Given the description of an element on the screen output the (x, y) to click on. 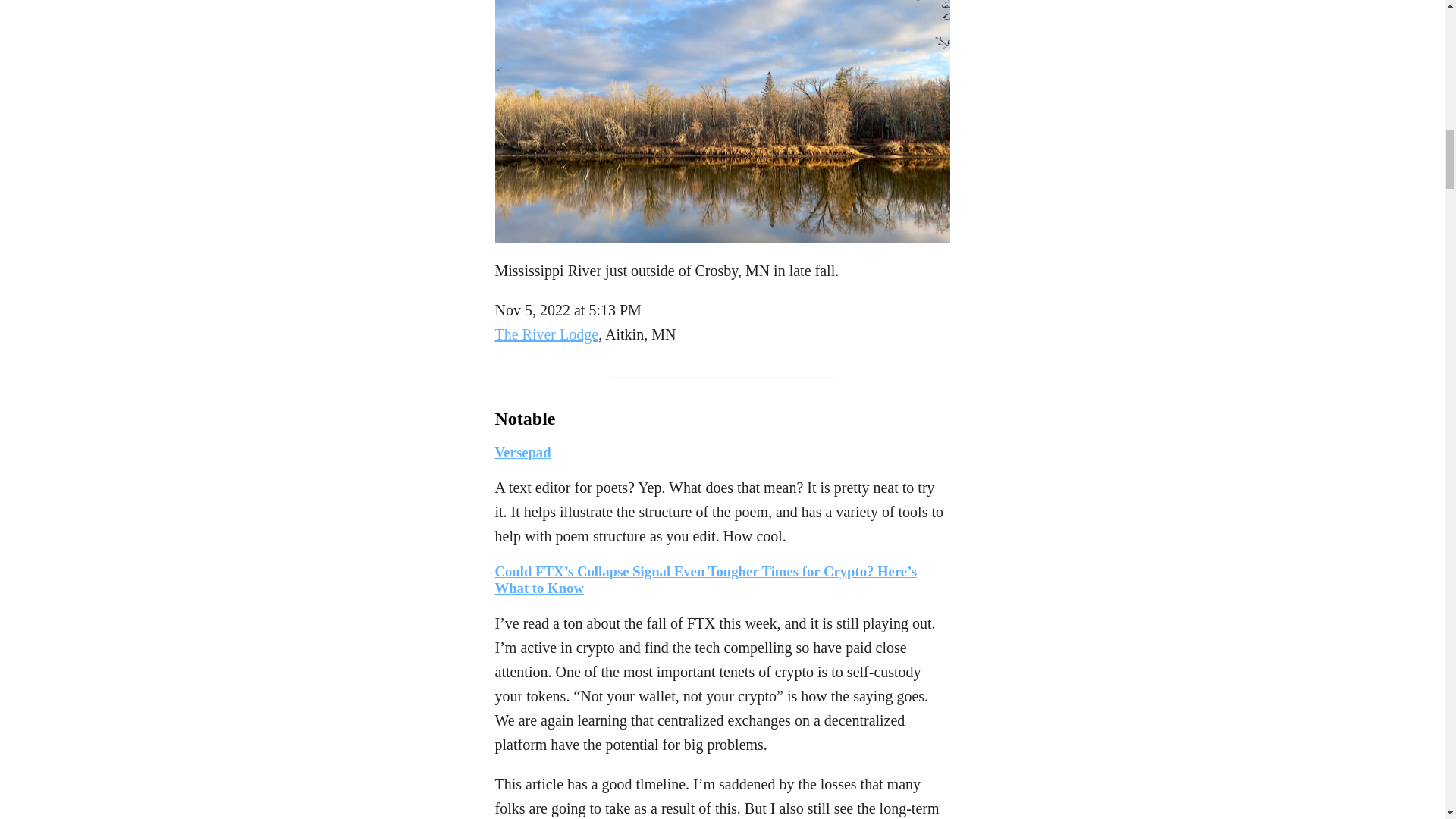
Versepad (522, 452)
The River Lodge (546, 334)
